Given the description of an element on the screen output the (x, y) to click on. 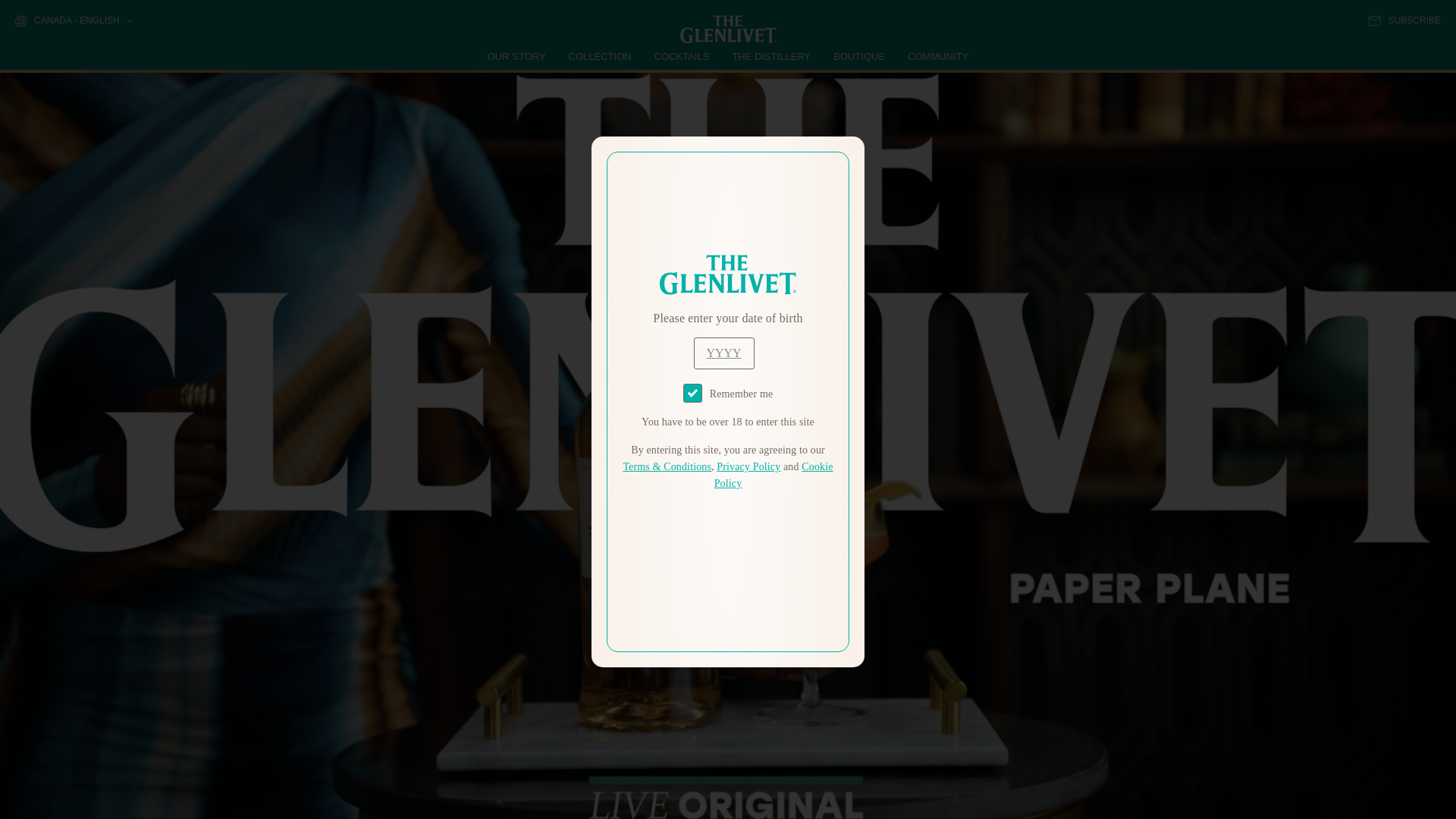
Cookie Policy (773, 474)
COLLECTION (600, 56)
OUR STORY (516, 56)
SUBSCRIBE (1404, 20)
Privacy Policy (748, 466)
CANADA - ENGLISH (73, 21)
THE DISTILLERY (771, 56)
year (723, 353)
COCKTAILS (681, 56)
BOUTIQUE (858, 56)
